Given the description of an element on the screen output the (x, y) to click on. 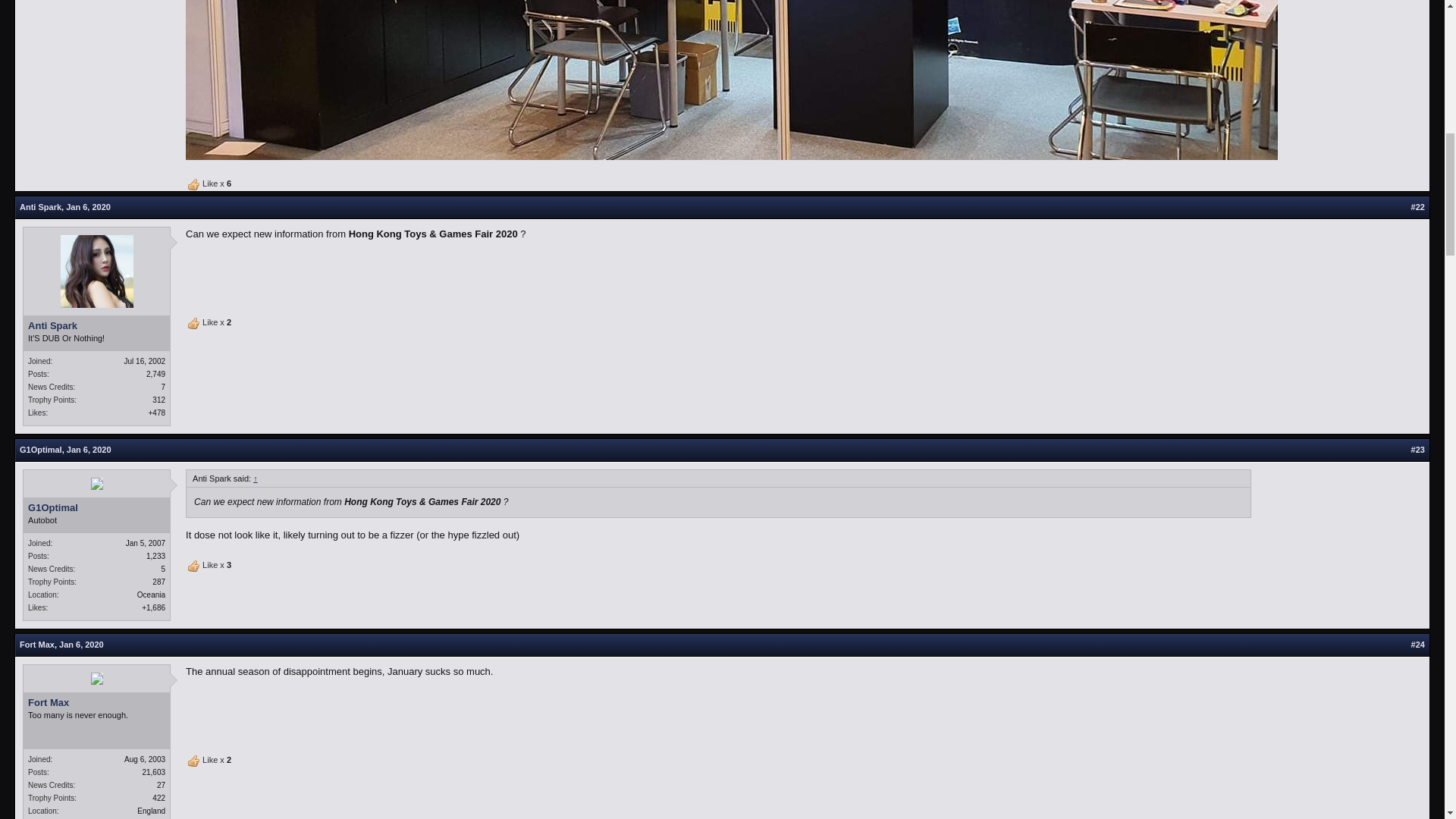
312 (158, 399)
Anti Spark (96, 326)
Permalink (1417, 206)
Jan 6, 2020 (87, 206)
Permalink (89, 449)
Jan 6, 2020 (89, 449)
G1Optimal (41, 449)
Like (193, 761)
Like (193, 566)
2,749 (156, 374)
Permalink (1417, 644)
Permalink (1417, 449)
Permalink (87, 206)
Permalink (81, 644)
Like (193, 184)
